Given the description of an element on the screen output the (x, y) to click on. 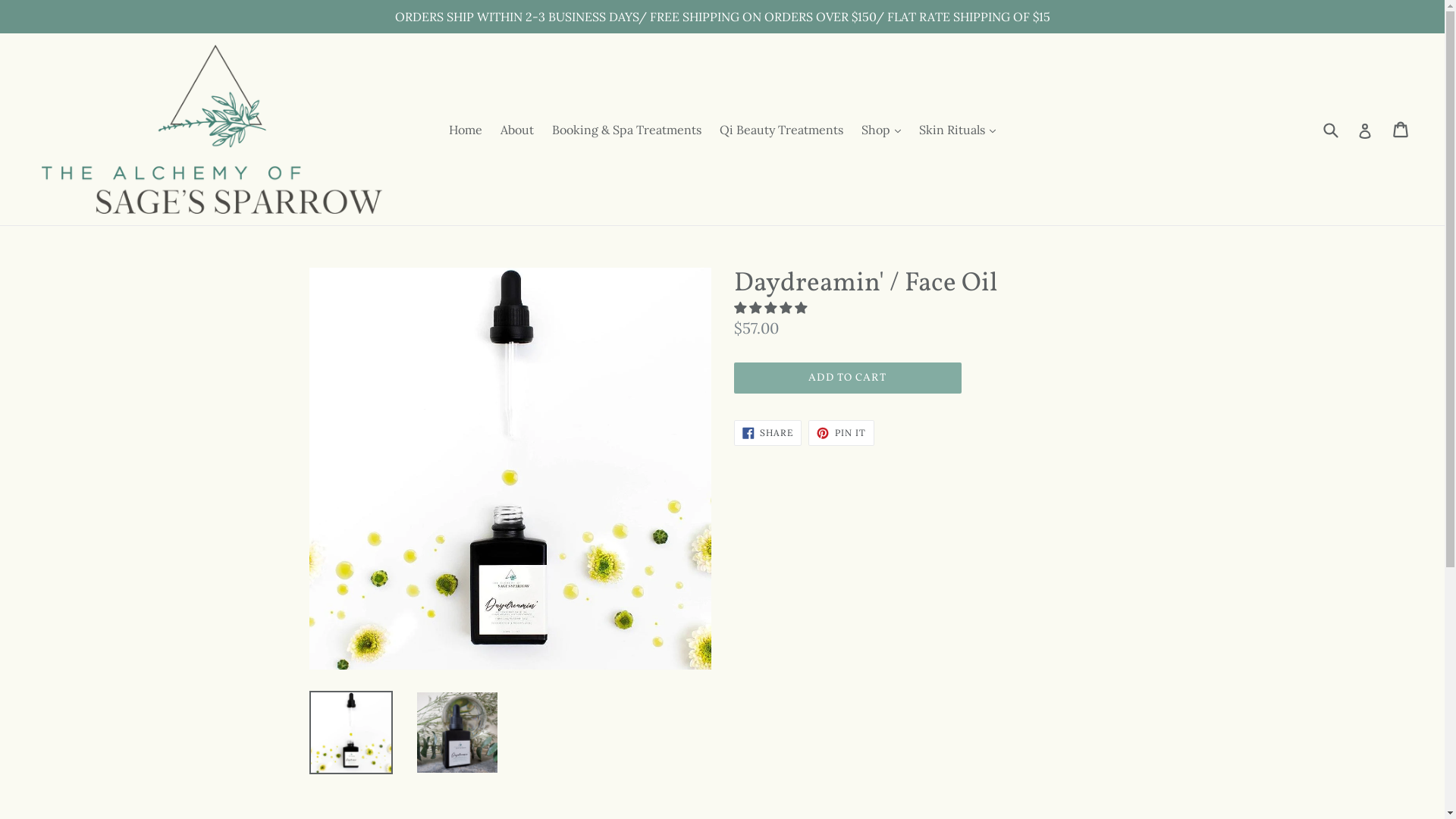
About Element type: text (516, 129)
Cart
Cart Element type: text (1401, 129)
PIN IT
PIN ON PINTEREST Element type: text (841, 432)
ADD TO CART Element type: text (847, 378)
SHARE
SHARE ON FACEBOOK Element type: text (768, 432)
Home Element type: text (465, 129)
Qi Beauty Treatments Element type: text (781, 129)
Log in Element type: text (1364, 129)
Booking & Spa Treatments Element type: text (626, 129)
Submit Element type: text (1329, 128)
